Given the description of an element on the screen output the (x, y) to click on. 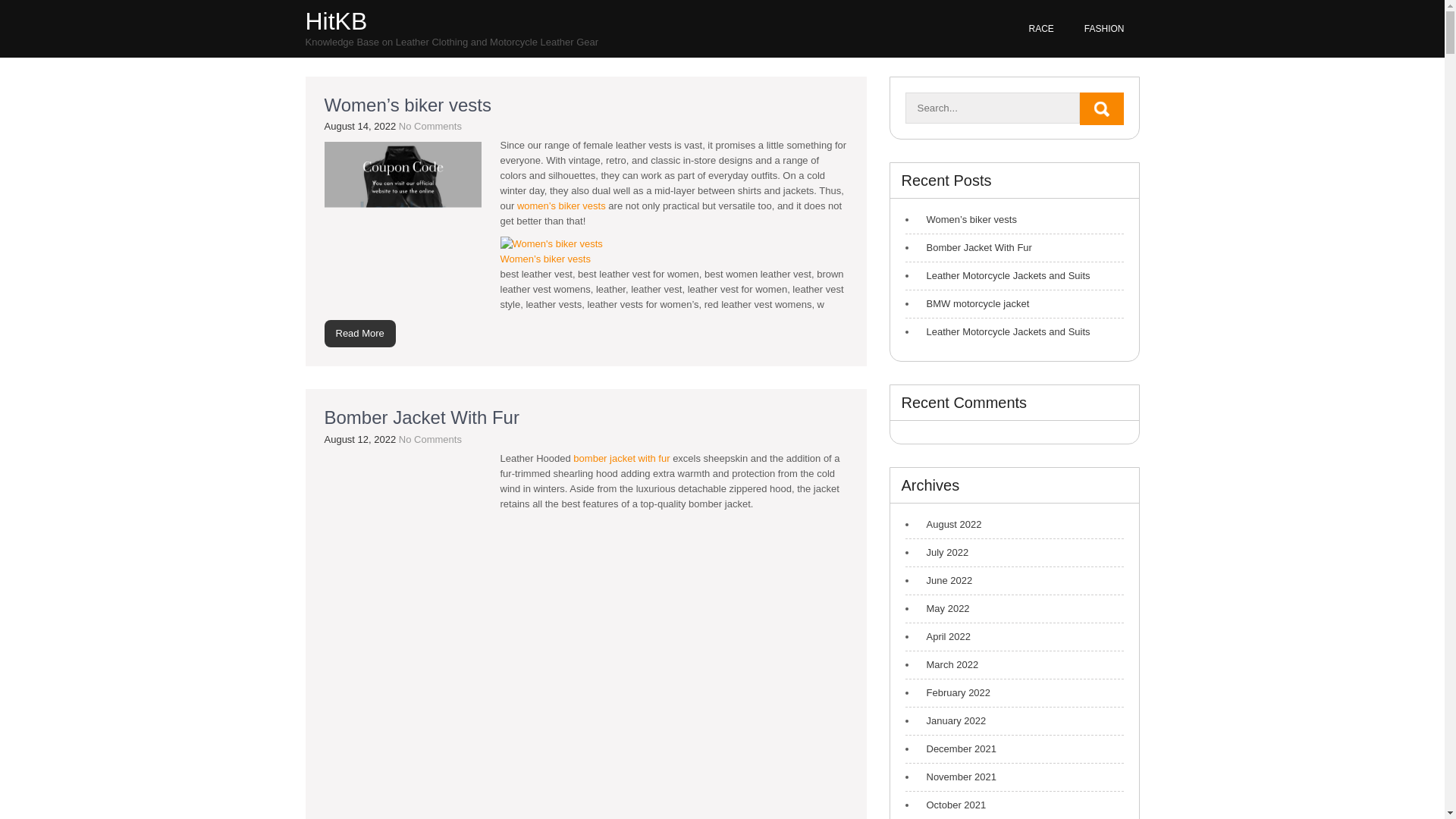
Search (1102, 108)
Bomber Jacket With Fur (421, 417)
HitKB (335, 21)
Search (1102, 108)
RACE (1040, 28)
Read More (360, 333)
No Comments (429, 439)
FASHION (1104, 28)
bomber jacket with fur (621, 458)
No Comments (429, 125)
